Given the description of an element on the screen output the (x, y) to click on. 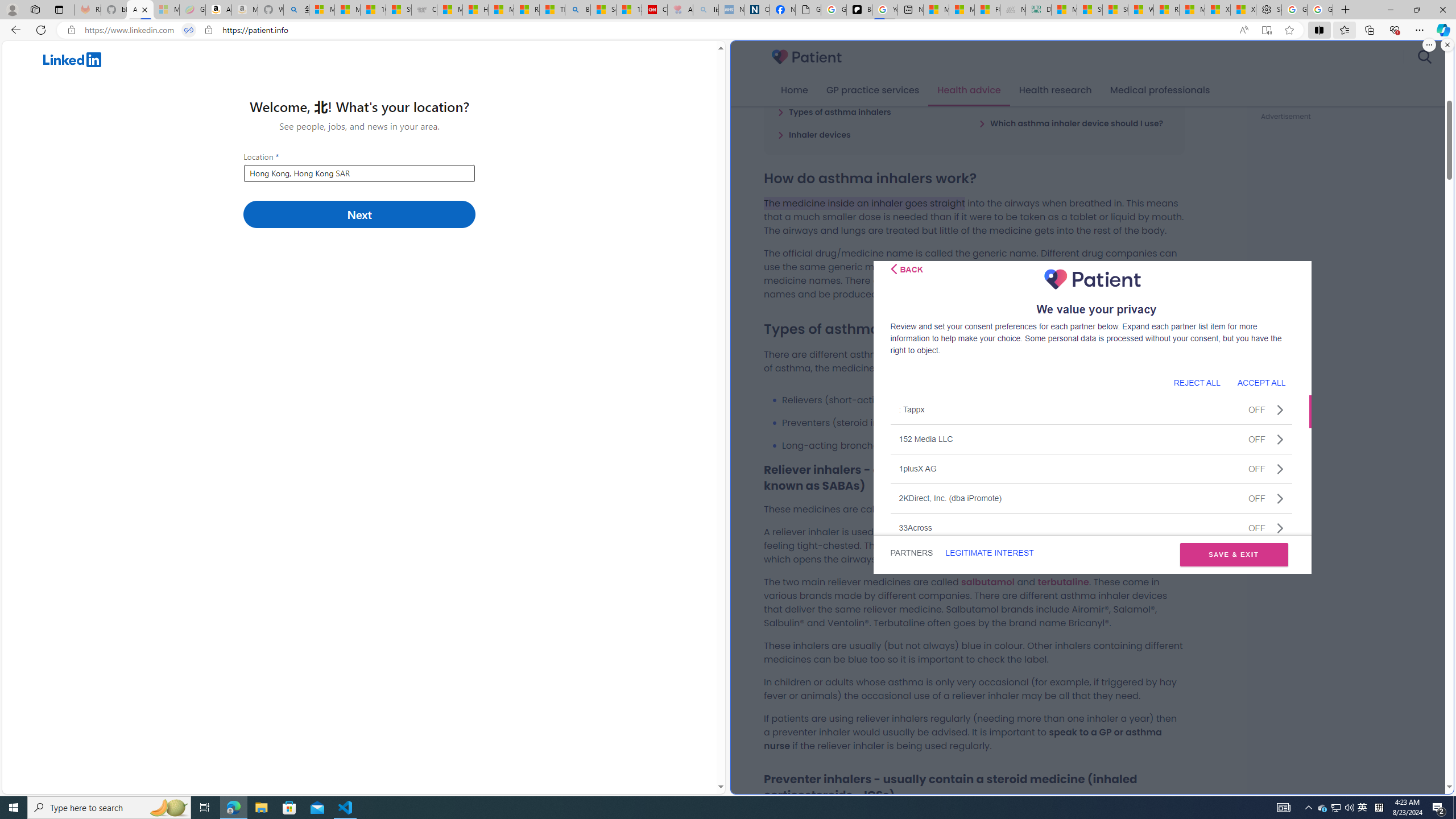
: TappxOFF (1090, 409)
Health research (1054, 90)
Recipes - MSN (526, 9)
FOX News - MSN (986, 9)
Health advice (969, 90)
Inhaler devices (813, 134)
Tabs in split screen (189, 29)
GP practice services (872, 90)
Close split screen. (1447, 45)
